Given the description of an element on the screen output the (x, y) to click on. 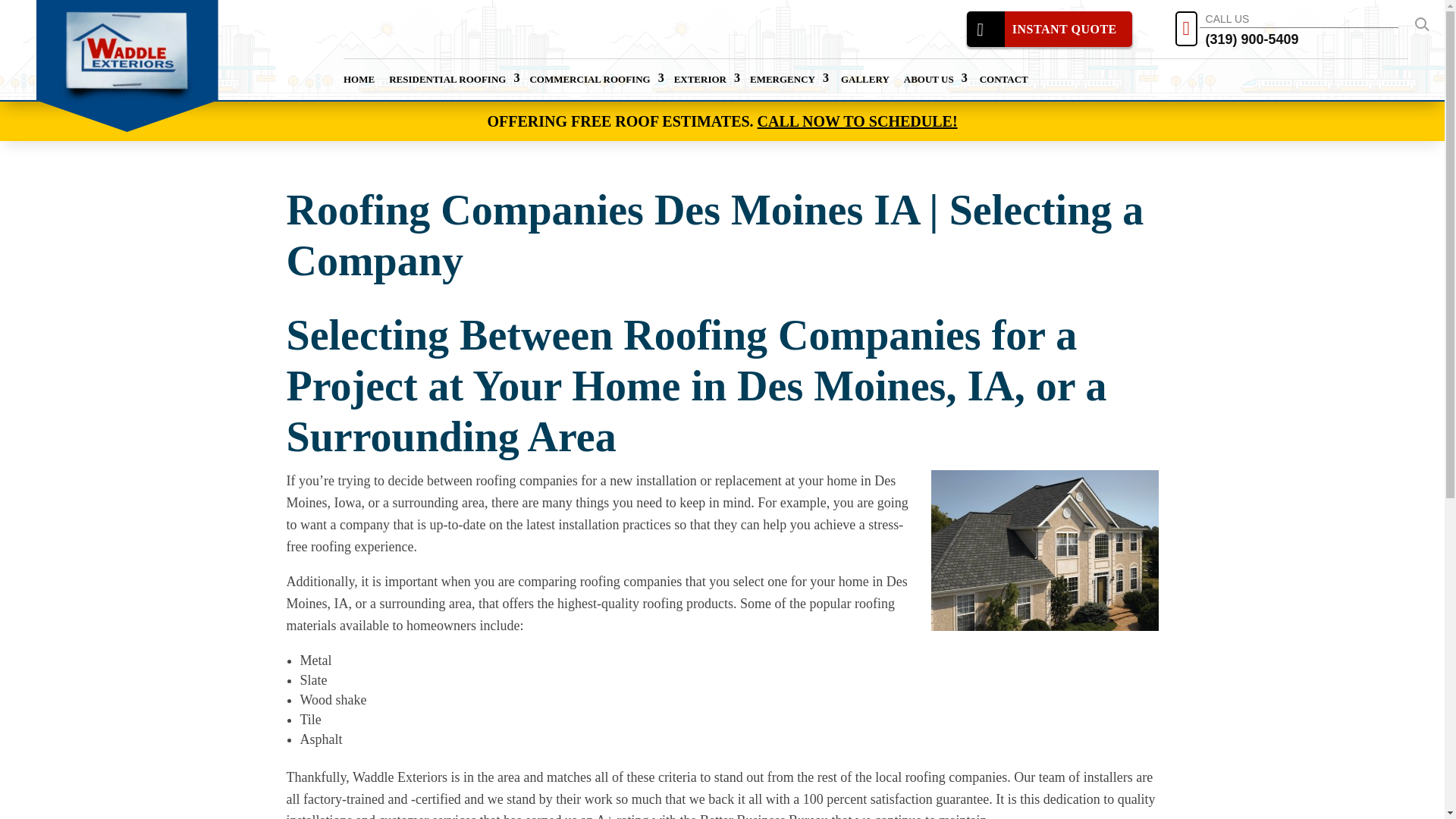
HOME (358, 79)
CALL NOW TO SCHEDULE! (857, 121)
EXTERIOR (705, 79)
INSTANT QUOTE (1049, 28)
CONTACT (1003, 79)
ABOUT US (934, 79)
Rectangle bl (127, 58)
RESIDENTIAL ROOFING (453, 79)
Roofing Companies Des Moines (1044, 550)
GALLERY (864, 79)
